Given the description of an element on the screen output the (x, y) to click on. 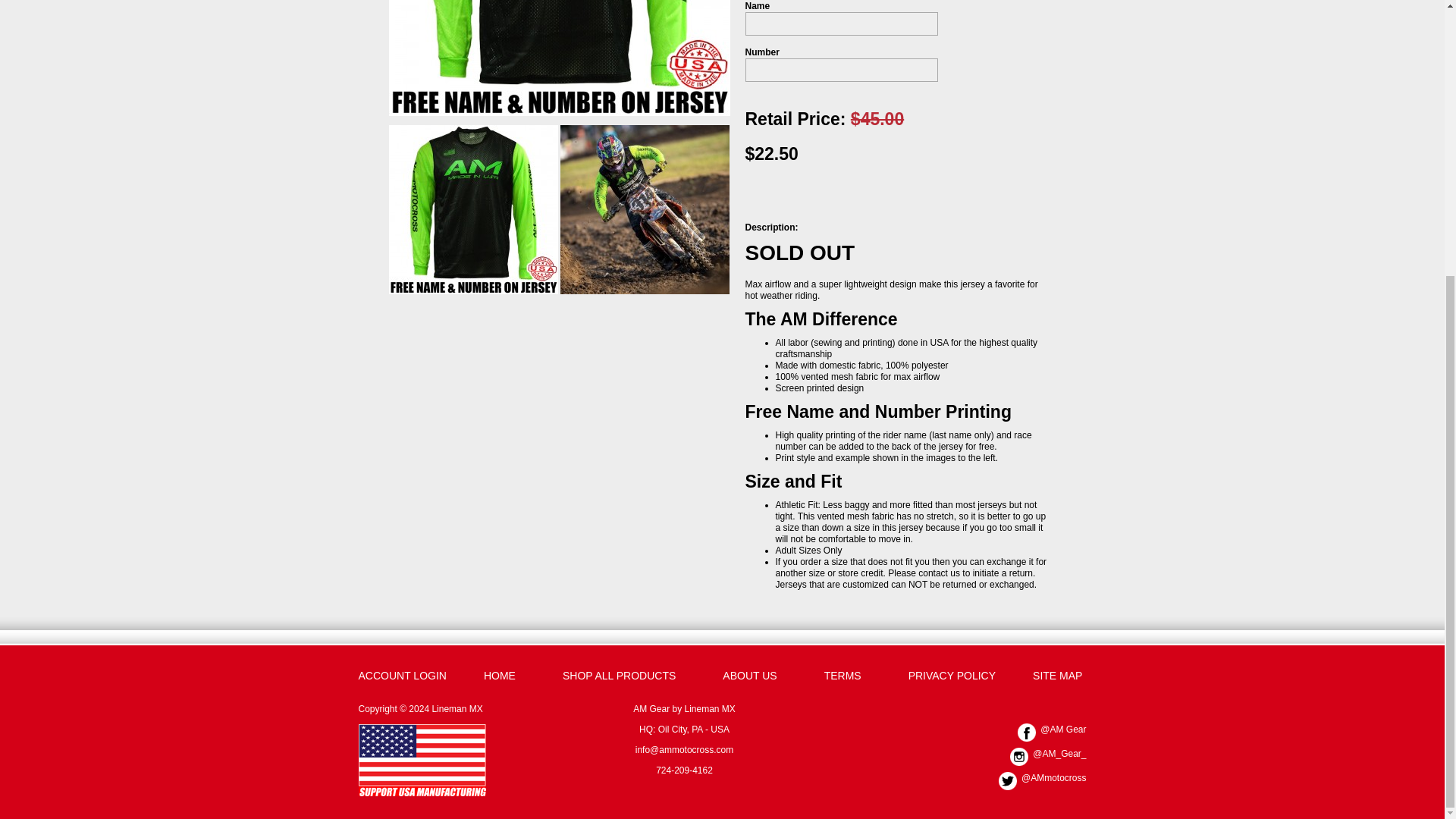
TERMS (842, 675)
ACCOUNT LOGIN (401, 675)
PRIVACY POLICY (951, 675)
ABOUT US (749, 675)
HOME (499, 675)
SITE MAP (1056, 675)
SHOP ALL PRODUCTS (618, 675)
